Given the description of an element on the screen output the (x, y) to click on. 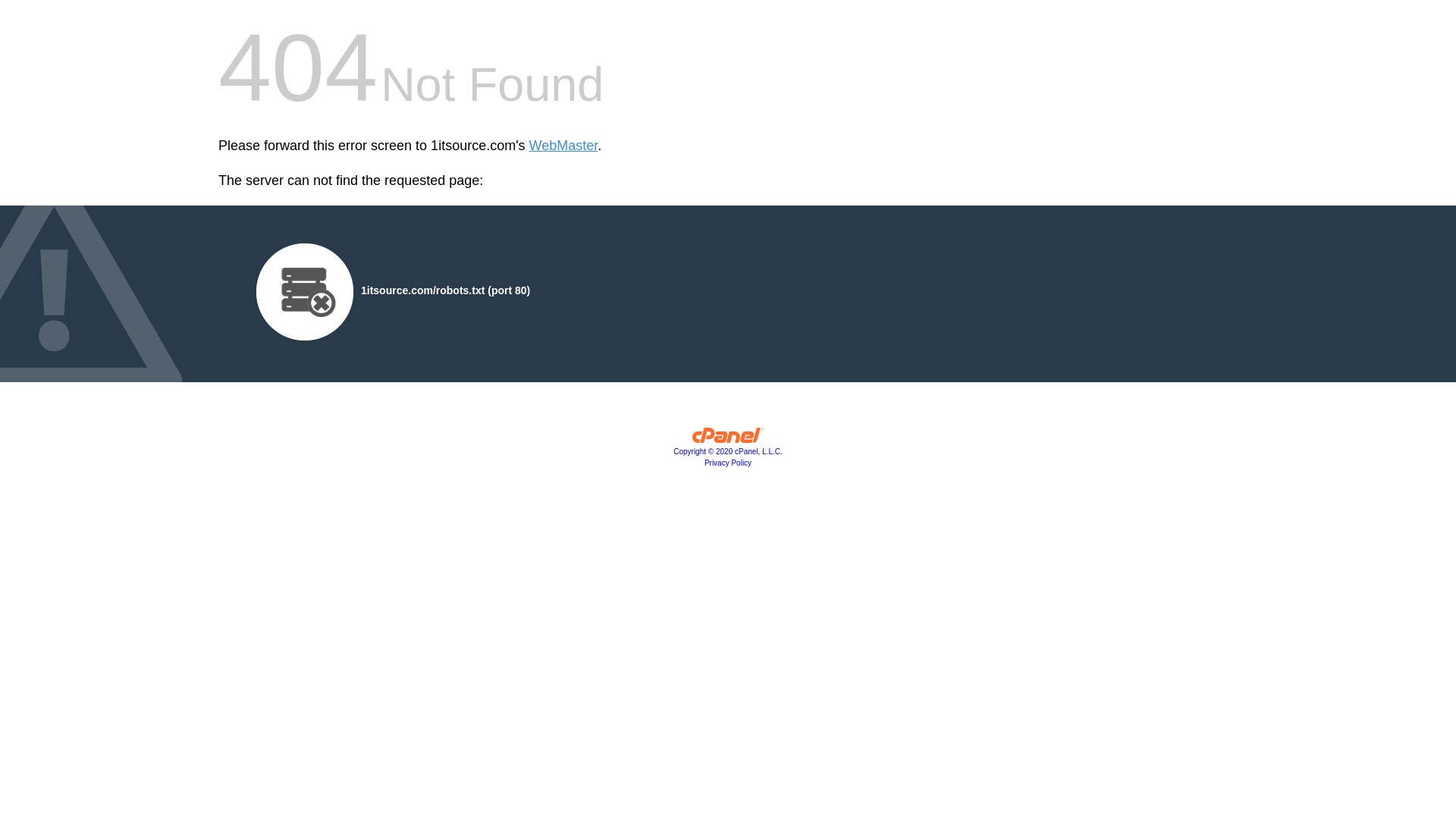
Privacy Policy Element type: text (727, 462)
WebMaster Element type: text (563, 145)
cPanel, Inc. Element type: hover (728, 439)
